Given the description of an element on the screen output the (x, y) to click on. 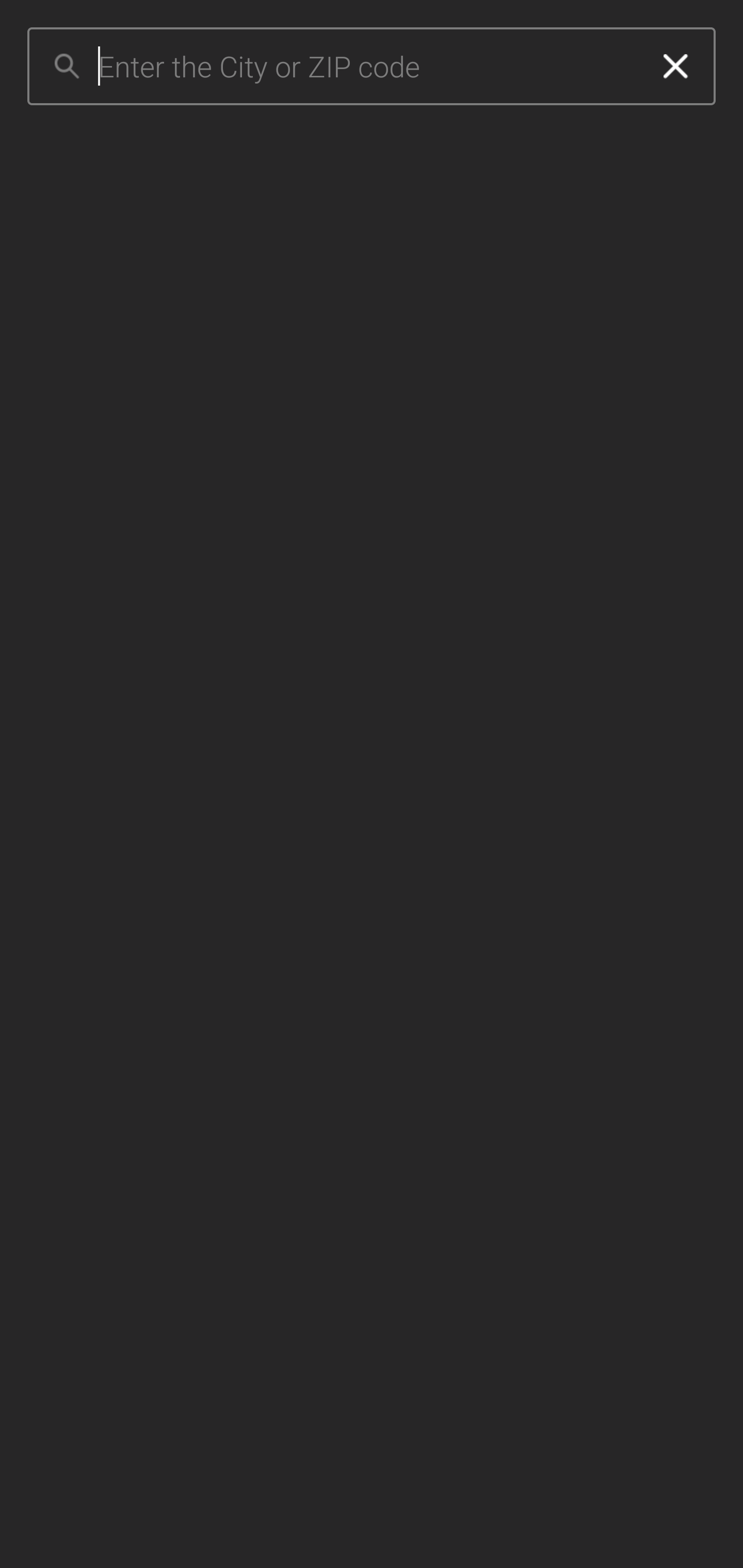
Enter the City or ZIP code (367, 66)
